Given the description of an element on the screen output the (x, y) to click on. 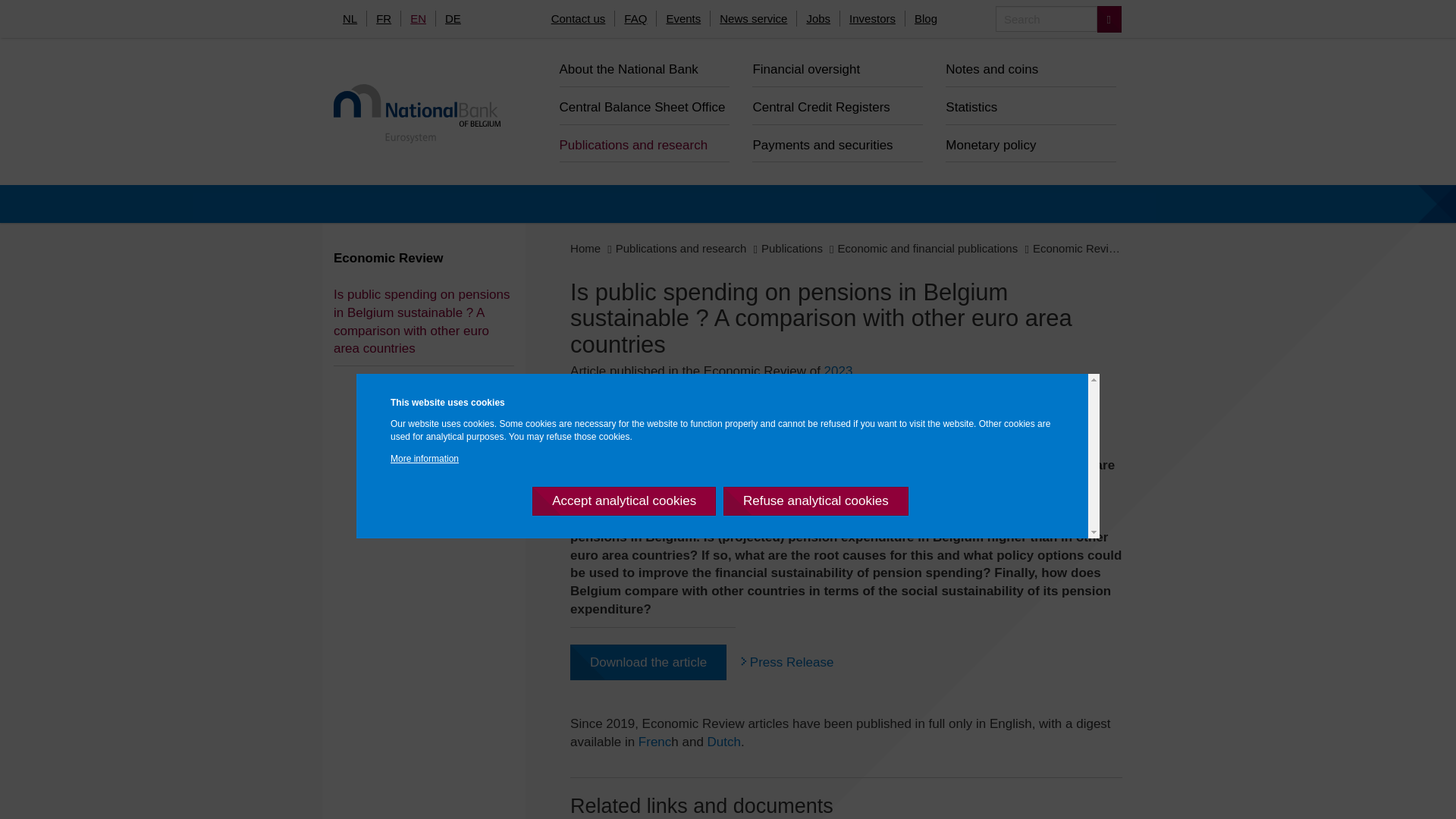
Download the article (648, 662)
DE (452, 18)
News service (753, 18)
Jobs (818, 18)
Search (1108, 18)
Contact us (577, 18)
Publications (791, 247)
Share this page via twitter (586, 401)
Investors (872, 18)
Blog (925, 18)
